Given the description of an element on the screen output the (x, y) to click on. 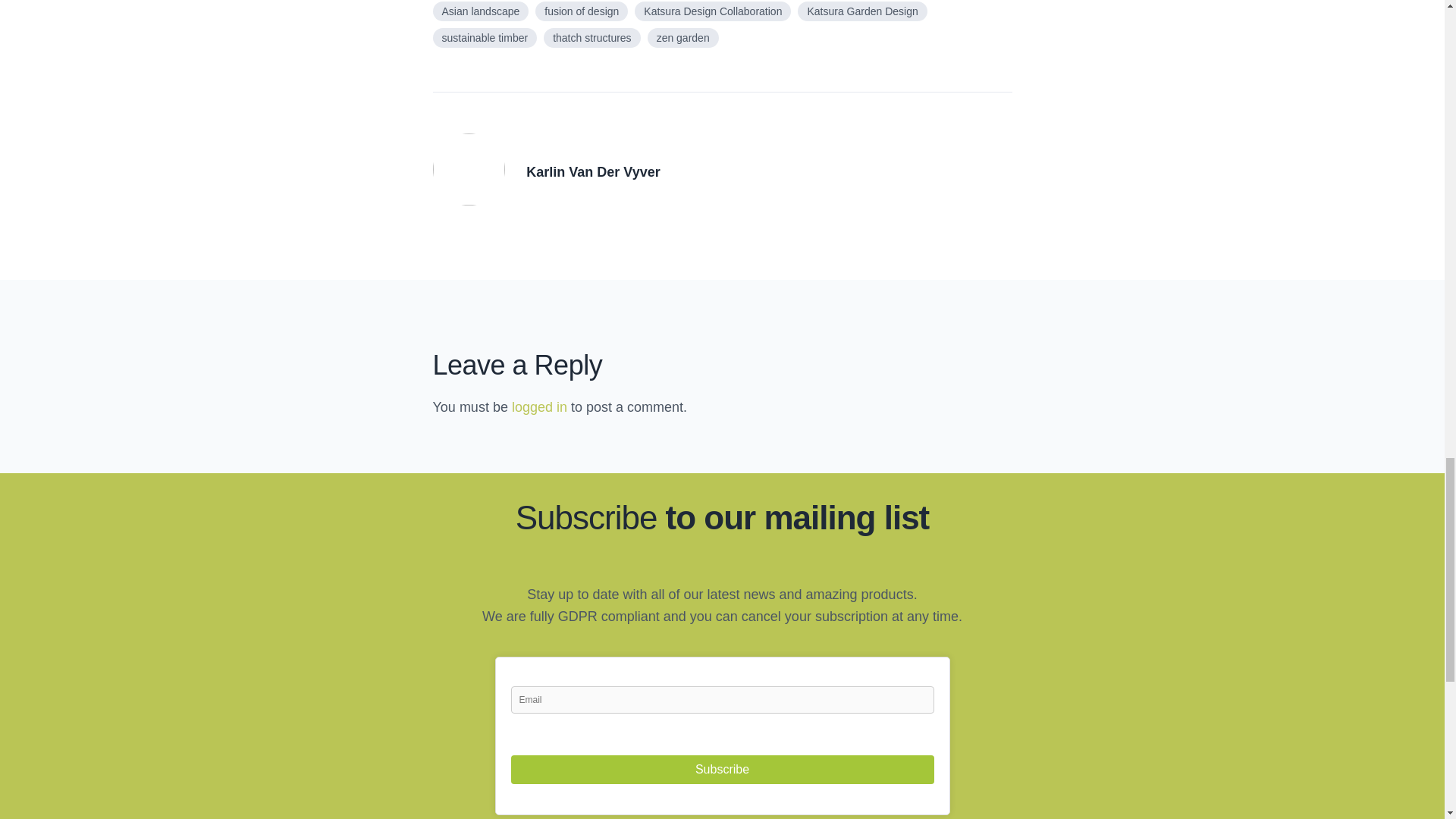
Subscribe (722, 769)
